Given the description of an element on the screen output the (x, y) to click on. 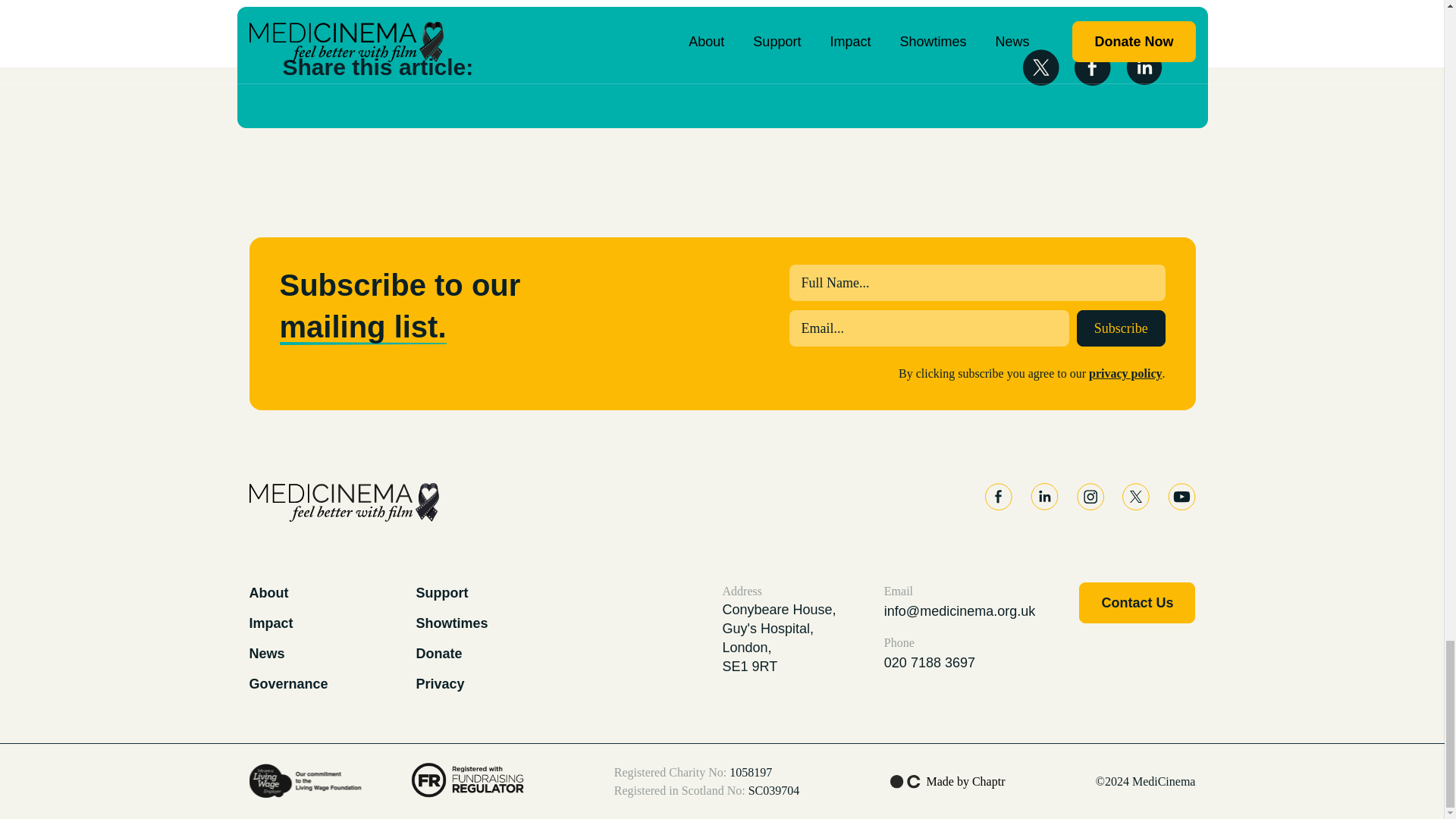
Twitter (1136, 496)
Subscribe (1121, 328)
Showtimes (450, 622)
Governance (287, 683)
About (268, 592)
News (265, 653)
Support (440, 592)
privacy policy (1125, 373)
020 7188 3697 (959, 662)
YouTube (1181, 496)
